Given the description of an element on the screen output the (x, y) to click on. 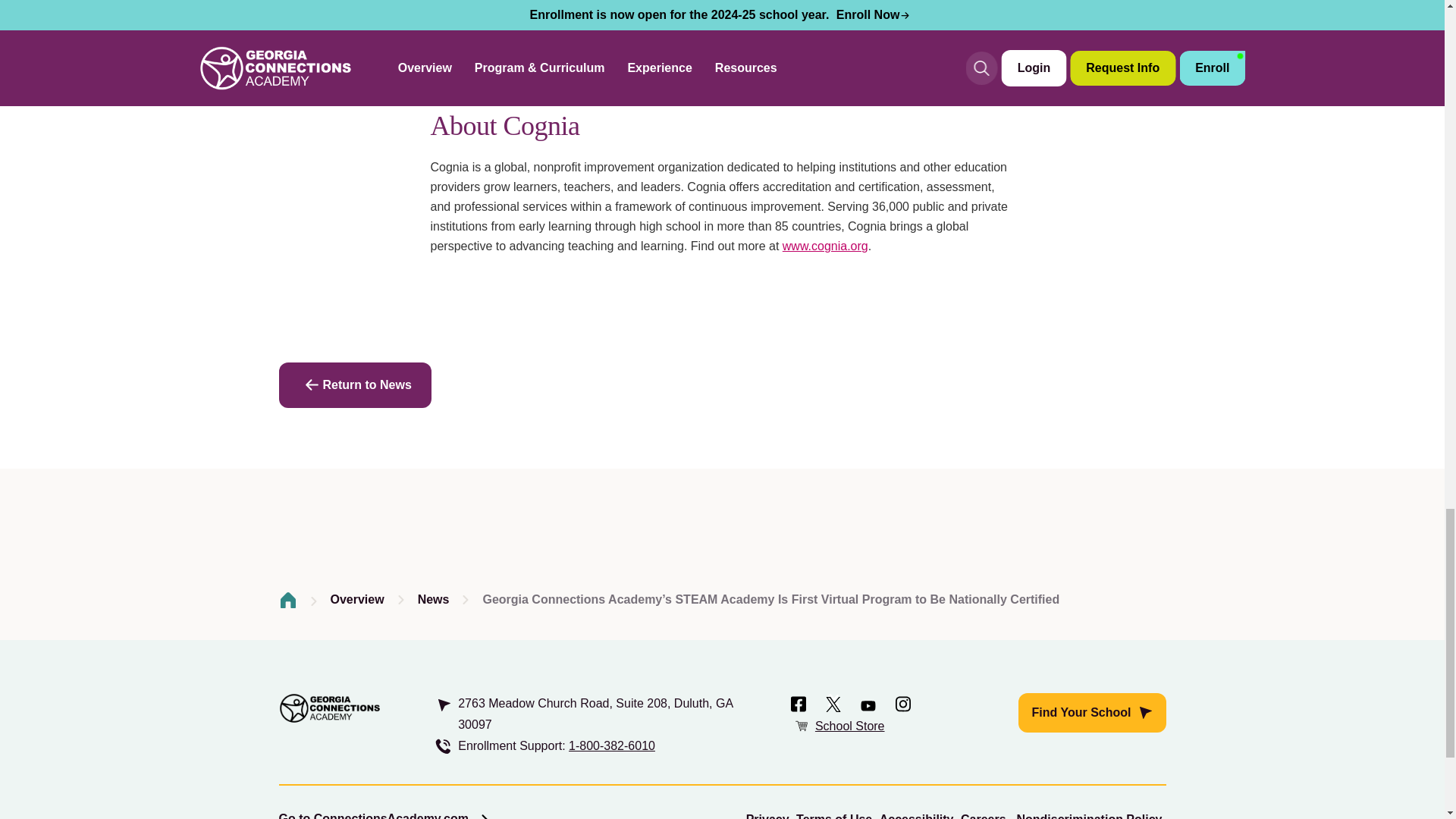
Careers (983, 816)
Terms of Use (834, 816)
Nondiscrimination policy (1088, 816)
Privacy Policy (767, 816)
School Store (850, 725)
Find Your School (1091, 712)
Go to ConnectionsAcademy.com (385, 815)
